Given the description of an element on the screen output the (x, y) to click on. 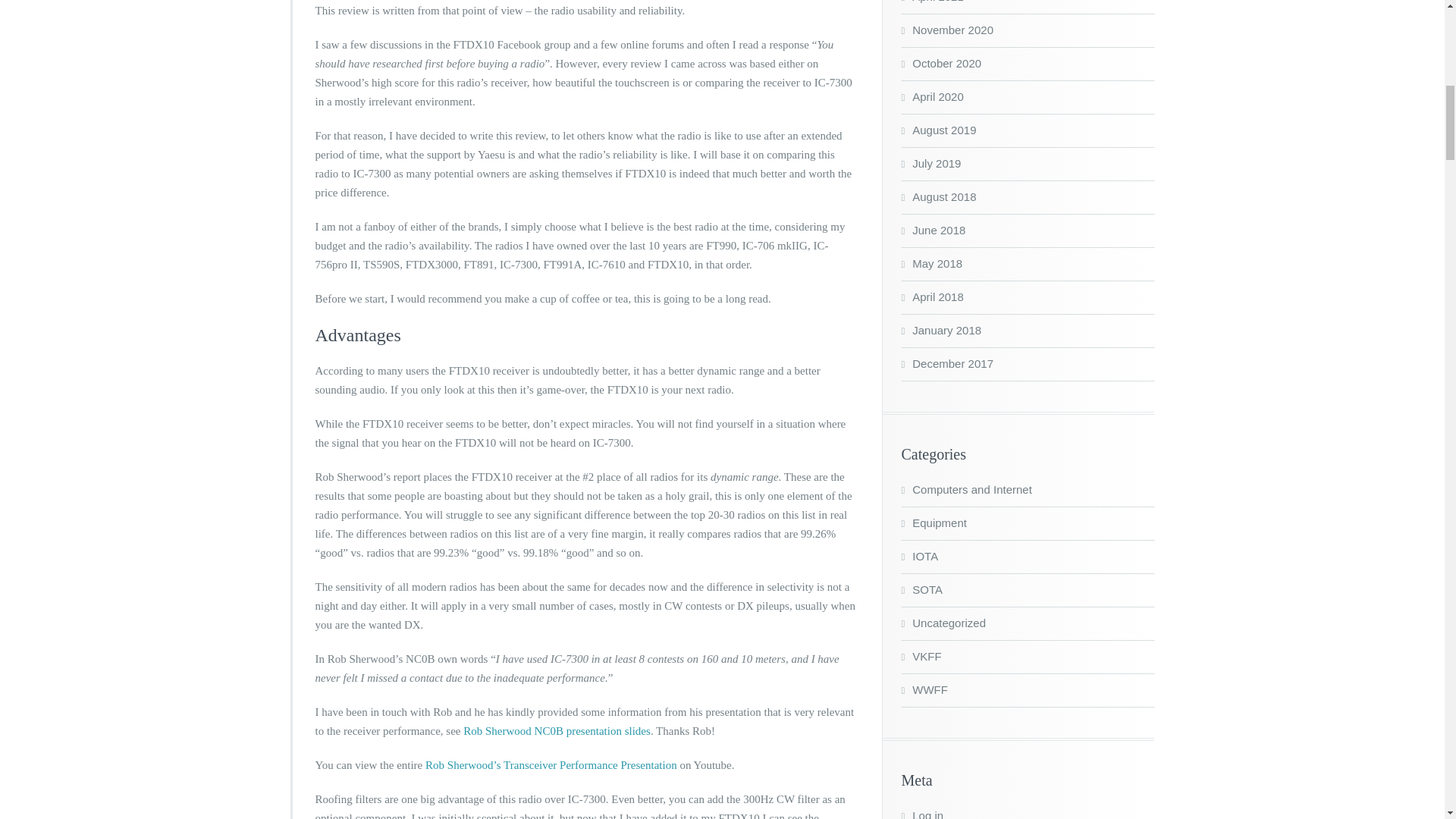
Rob Sherwood NC0B presentation slides (556, 730)
October 2020 (941, 62)
November 2020 (946, 29)
July 2019 (930, 163)
August 2019 (938, 129)
April 2020 (931, 96)
April 2021 (931, 1)
